Given the description of an element on the screen output the (x, y) to click on. 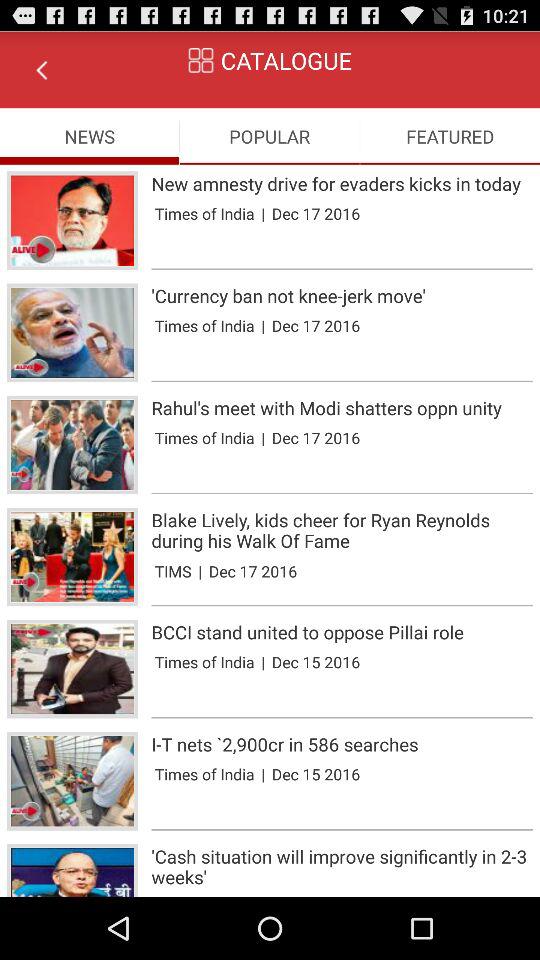
tap app to the left of the dec 17 2016 item (263, 325)
